Given the description of an element on the screen output the (x, y) to click on. 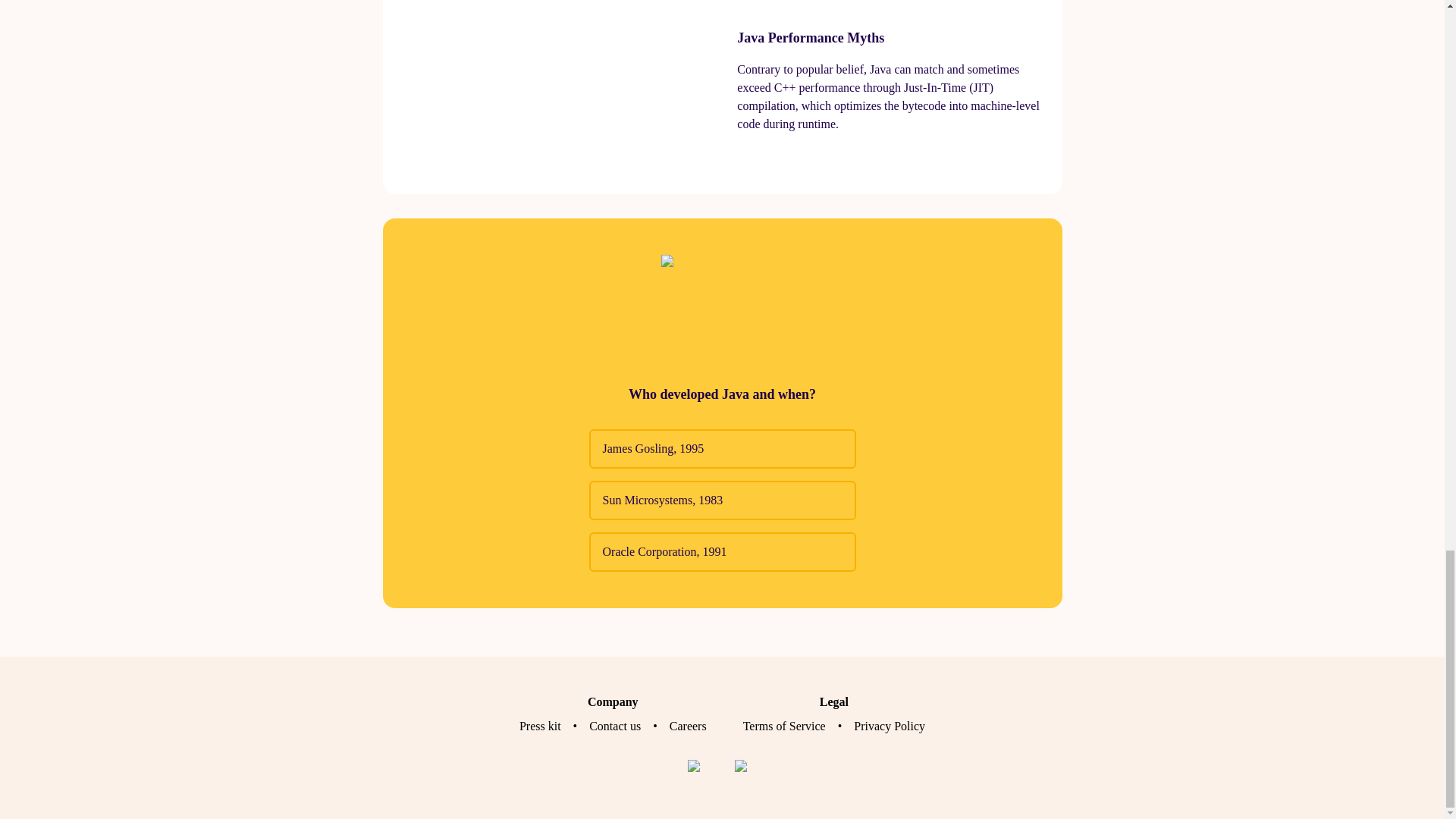
Contact us (614, 725)
Terms of Service (783, 725)
Careers (687, 725)
Press kit (539, 725)
Privacy Policy (888, 725)
